Given the description of an element on the screen output the (x, y) to click on. 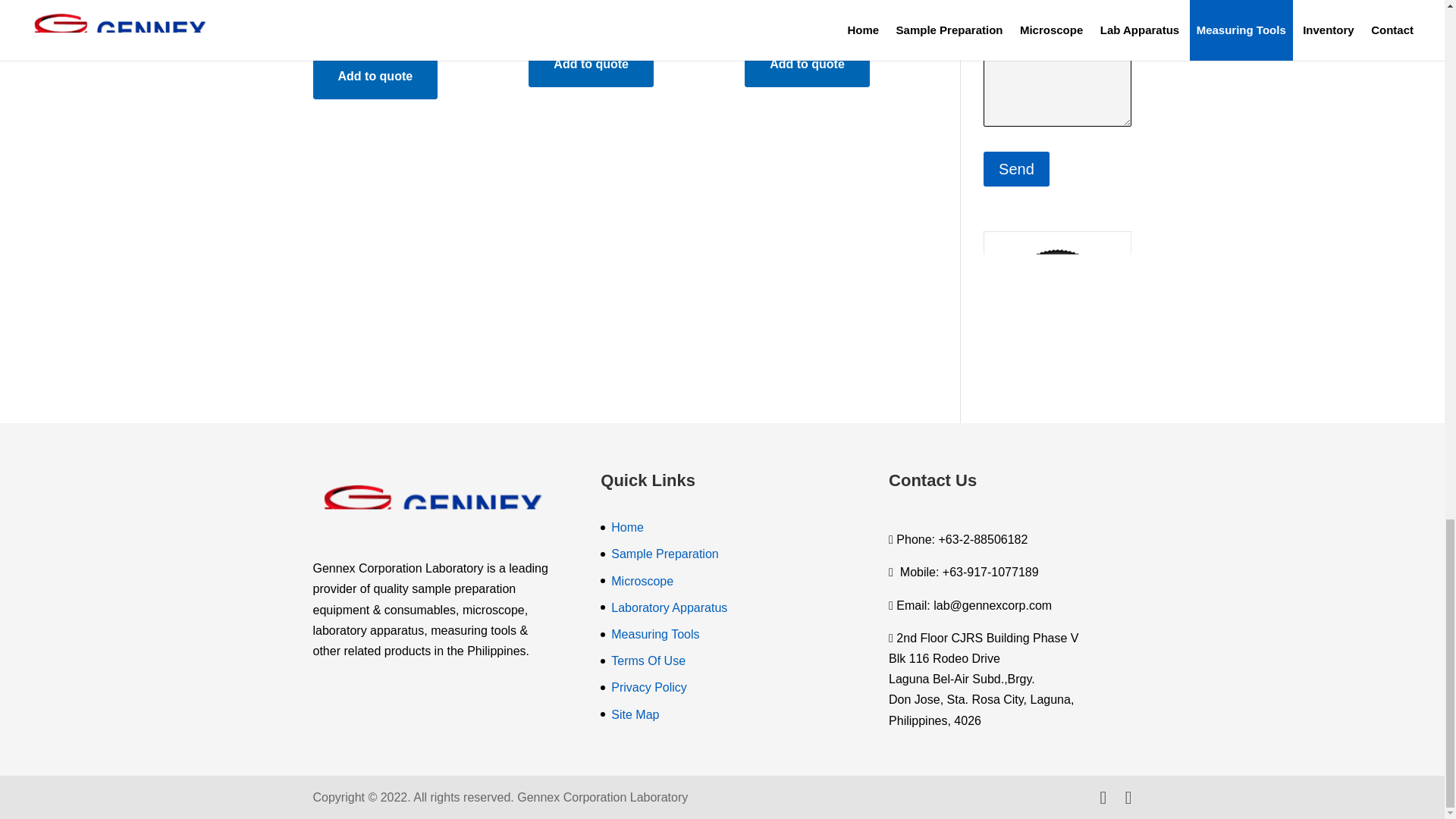
Cybersecurity Tools (829, 13)
Send (1016, 168)
Microscope Philippines (641, 581)
Add to quote (375, 76)
Add to quote (806, 63)
Soldering Lead (613, 13)
Homepage (627, 526)
Add to quote (590, 63)
Sample Preparation Philippines (664, 553)
Temperature Scanner Philippines (398, 20)
Laboratory Apparatus Philippines (668, 607)
Laboratory Measuring Tools Philippines (654, 634)
